Given the description of an element on the screen output the (x, y) to click on. 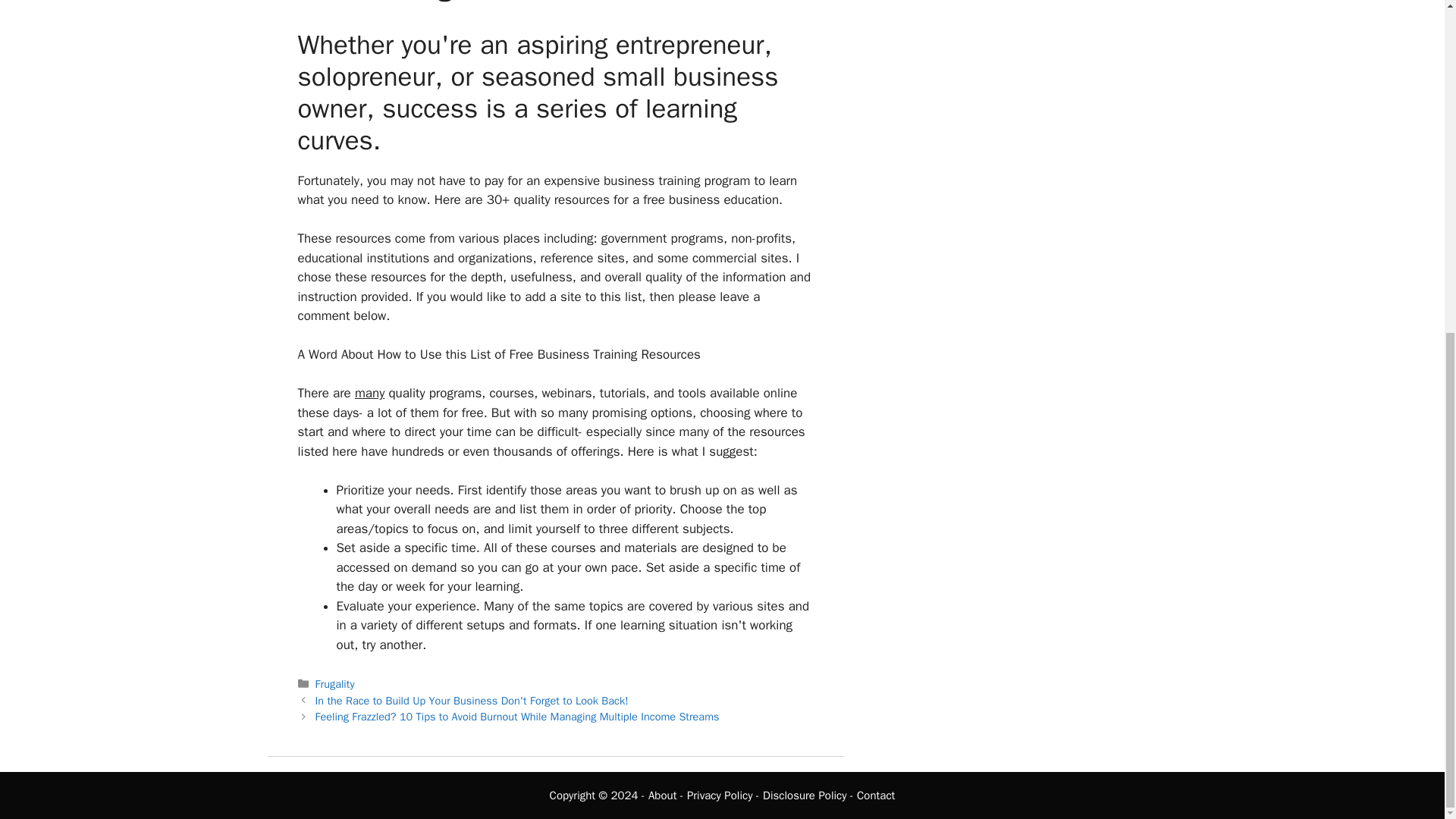
Next (517, 716)
Previous (471, 700)
